Given the description of an element on the screen output the (x, y) to click on. 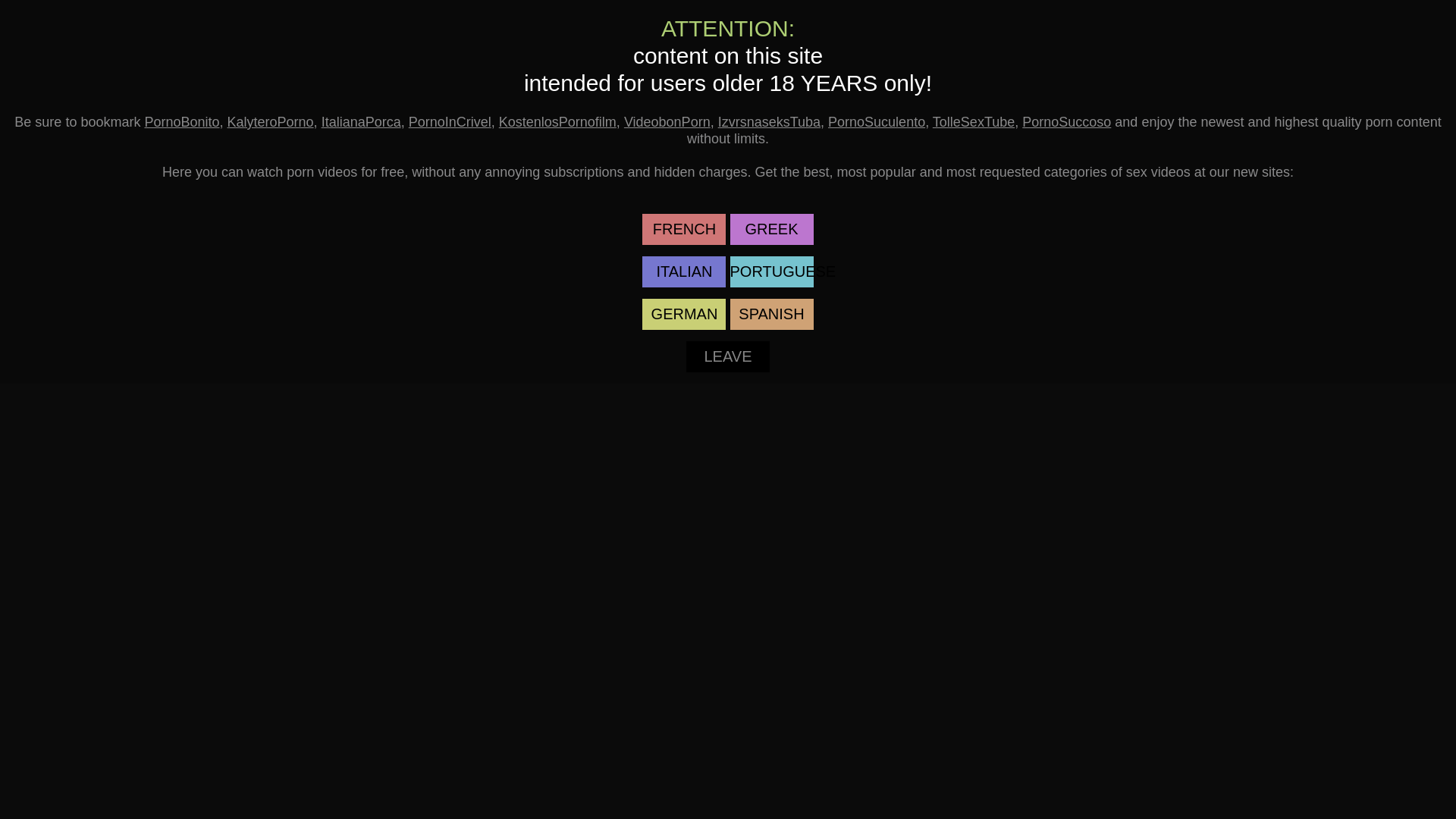
PornoSuculento Element type: text (876, 121)
LEAVE Element type: text (727, 356)
PornoBonito Element type: text (181, 121)
FRENCH Element type: text (683, 228)
PORTUGUESE Element type: text (770, 271)
ItalianaPorca Element type: text (361, 121)
GREEK Element type: text (770, 228)
VideobonPorn Element type: text (667, 121)
GERMAN Element type: text (683, 313)
KostenlosPornofilm Element type: text (557, 121)
PornoInCrivel Element type: text (449, 121)
SPANISH Element type: text (770, 313)
TolleSexTube Element type: text (973, 121)
PornoSuccoso Element type: text (1066, 121)
ITALIAN Element type: text (683, 271)
IzvrsnaseksTuba Element type: text (769, 121)
KalyteroPorno Element type: text (270, 121)
